Given the description of an element on the screen output the (x, y) to click on. 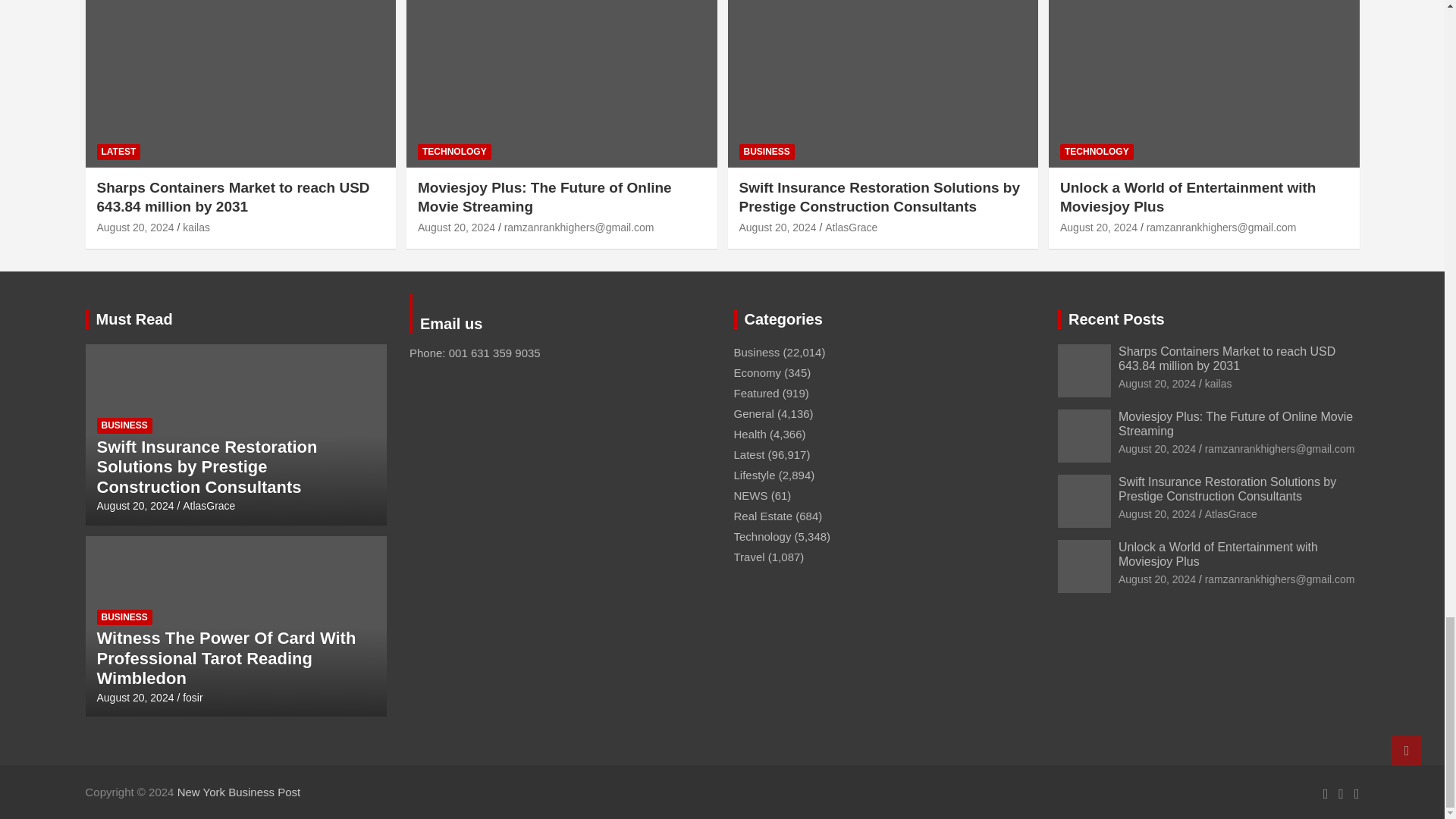
Unlock a World of Entertainment with Moviesjoy Plus (1098, 227)
Moviesjoy Plus: The Future of Online Movie Streaming (1156, 449)
Moviesjoy Plus: The Future of Online Movie Streaming (456, 227)
Sharps Containers Market to reach USD 643.84 million by 2031 (135, 227)
Sharps Containers Market to reach USD 643.84 million by 2031 (1156, 383)
